Given the description of an element on the screen output the (x, y) to click on. 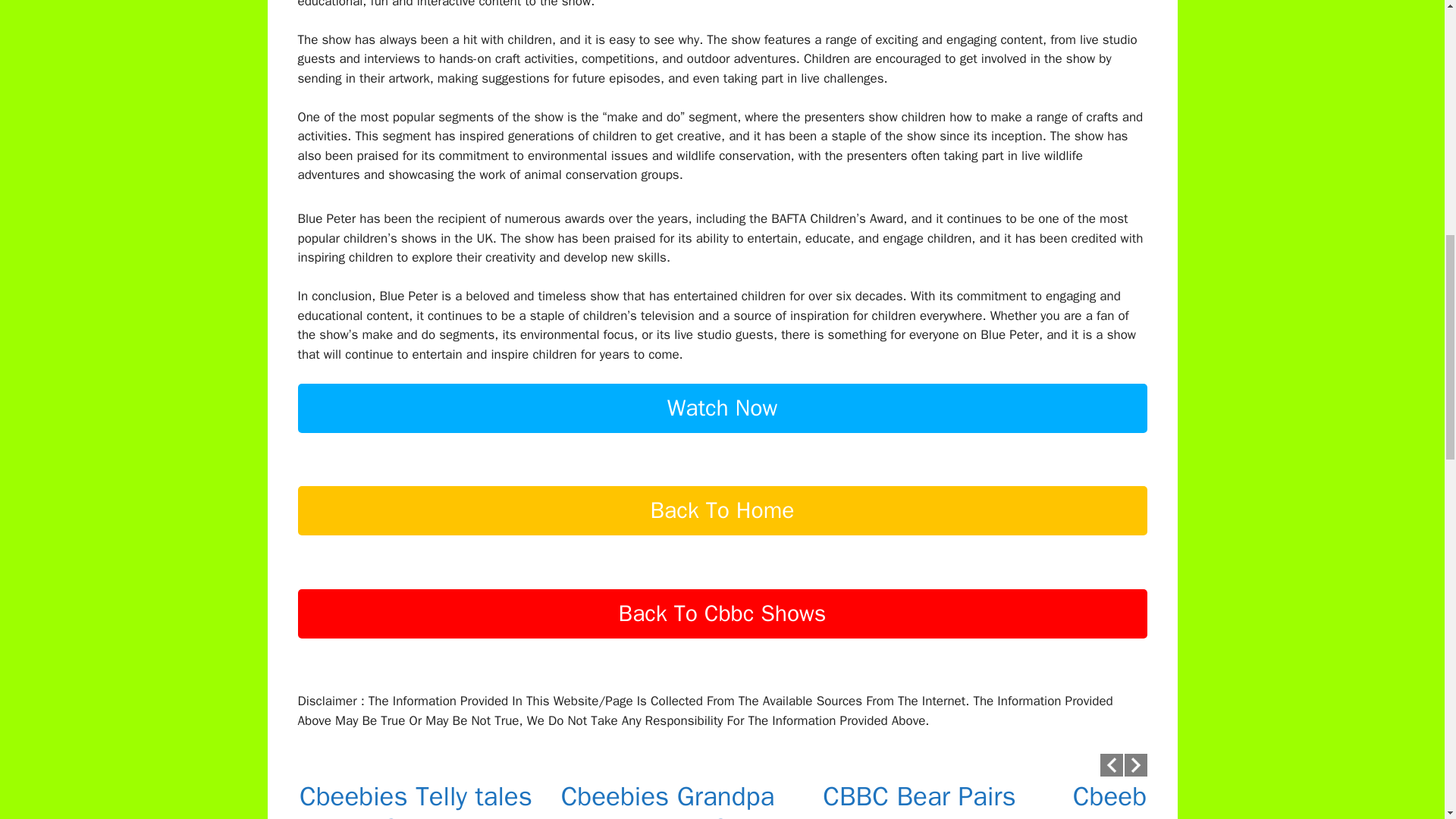
Watch Now (722, 434)
Cbeebies Charlie and Lola Game (1171, 799)
Cbeebies Grandpa in my Pocket Game (667, 799)
Cbeebies Telly tales Game (415, 799)
CBBC Bear Pairs Bear Behaving Badly Game (918, 799)
Back To Cbbc Shows (722, 639)
Back To Home (722, 536)
Previous (1110, 764)
